Given the description of an element on the screen output the (x, y) to click on. 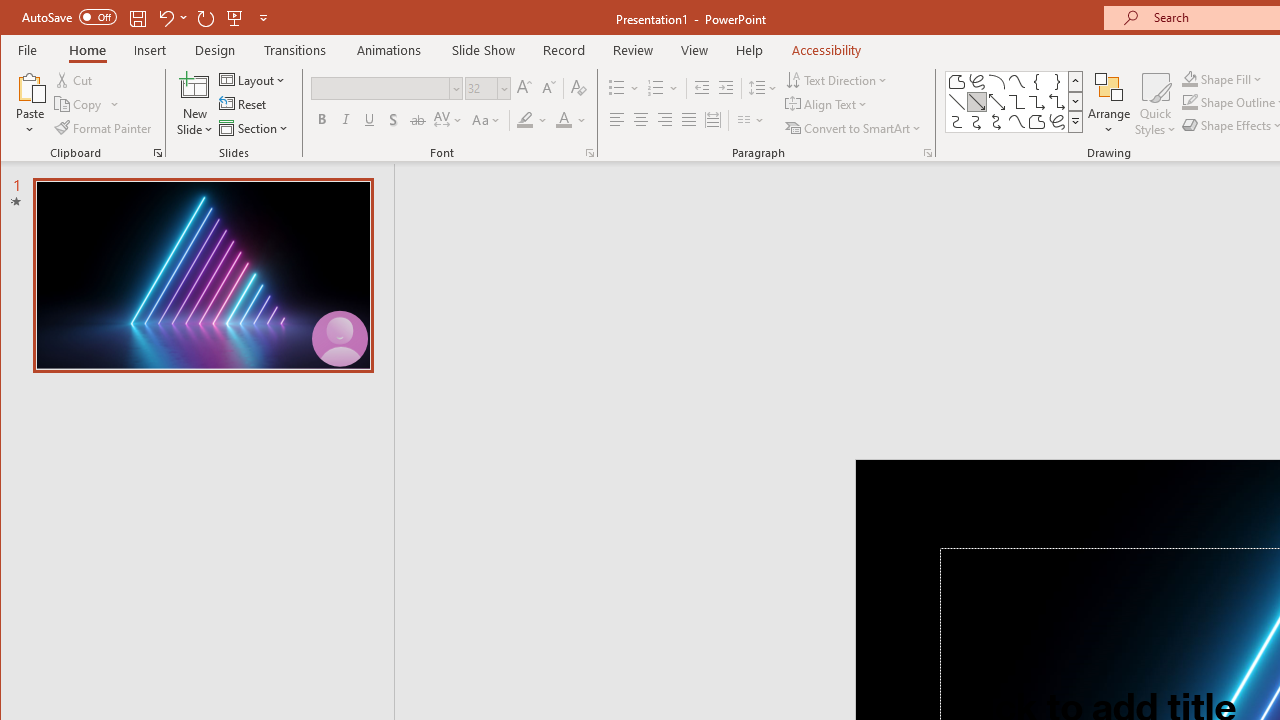
Connector: Elbow Double-Arrow (1057, 102)
Connector: Curved Arrow (976, 121)
Connector: Curved (956, 121)
